Given the description of an element on the screen output the (x, y) to click on. 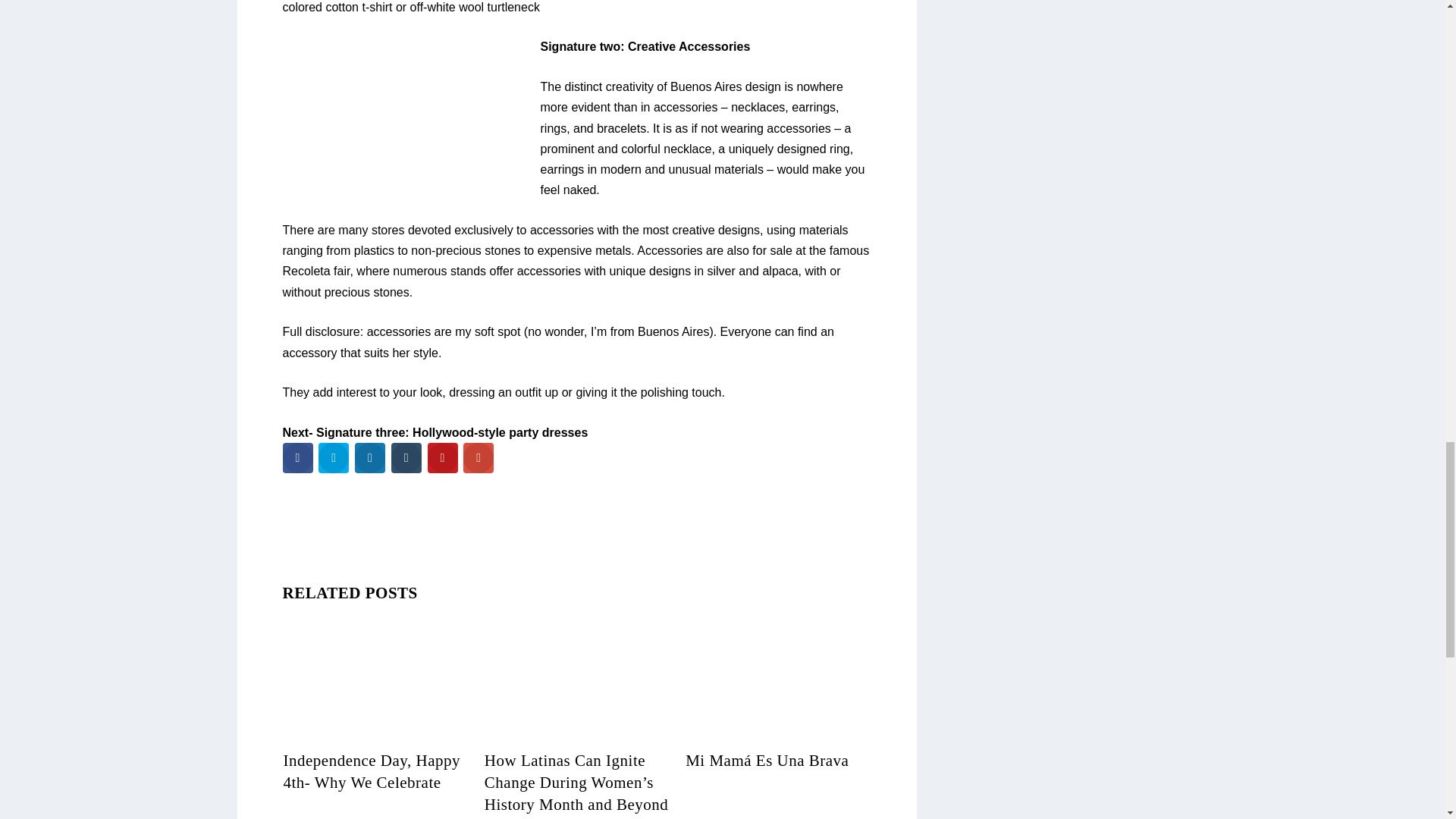
Buenos Aires Business Style Mara (405, 112)
